Given the description of an element on the screen output the (x, y) to click on. 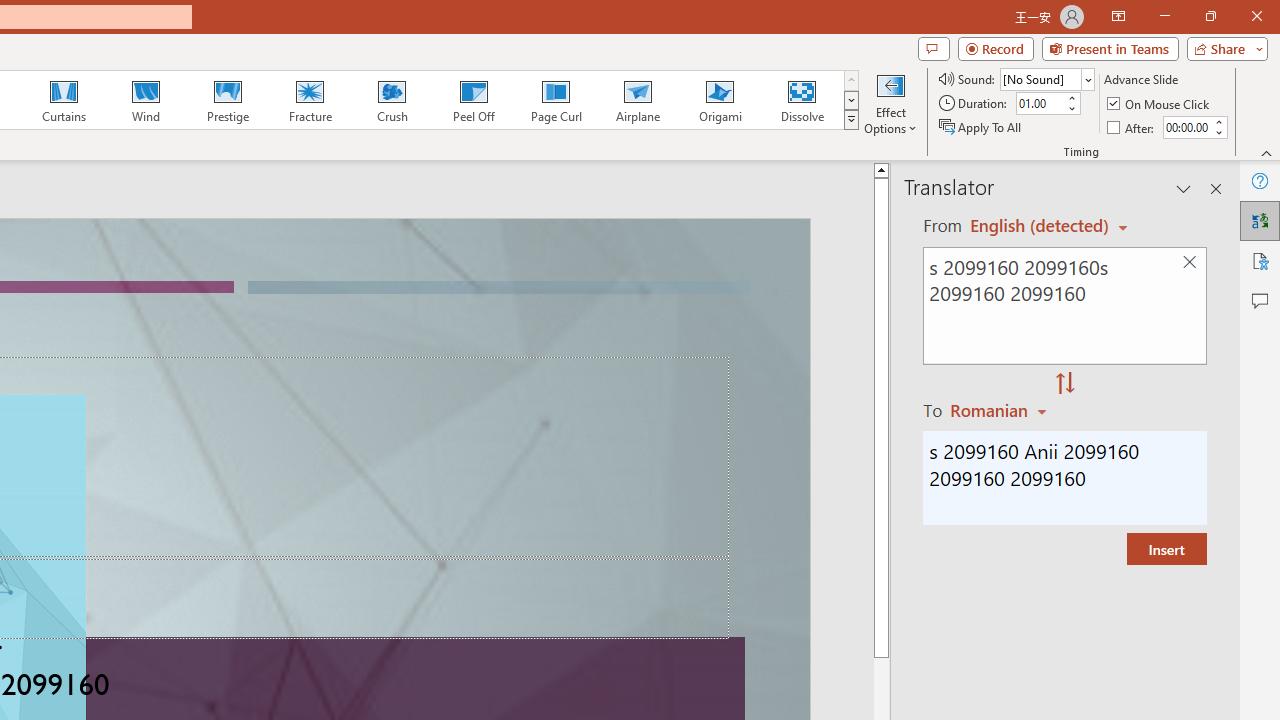
Fracture (309, 100)
Airplane (637, 100)
Crush (391, 100)
Dissolve (802, 100)
